Given the description of an element on the screen output the (x, y) to click on. 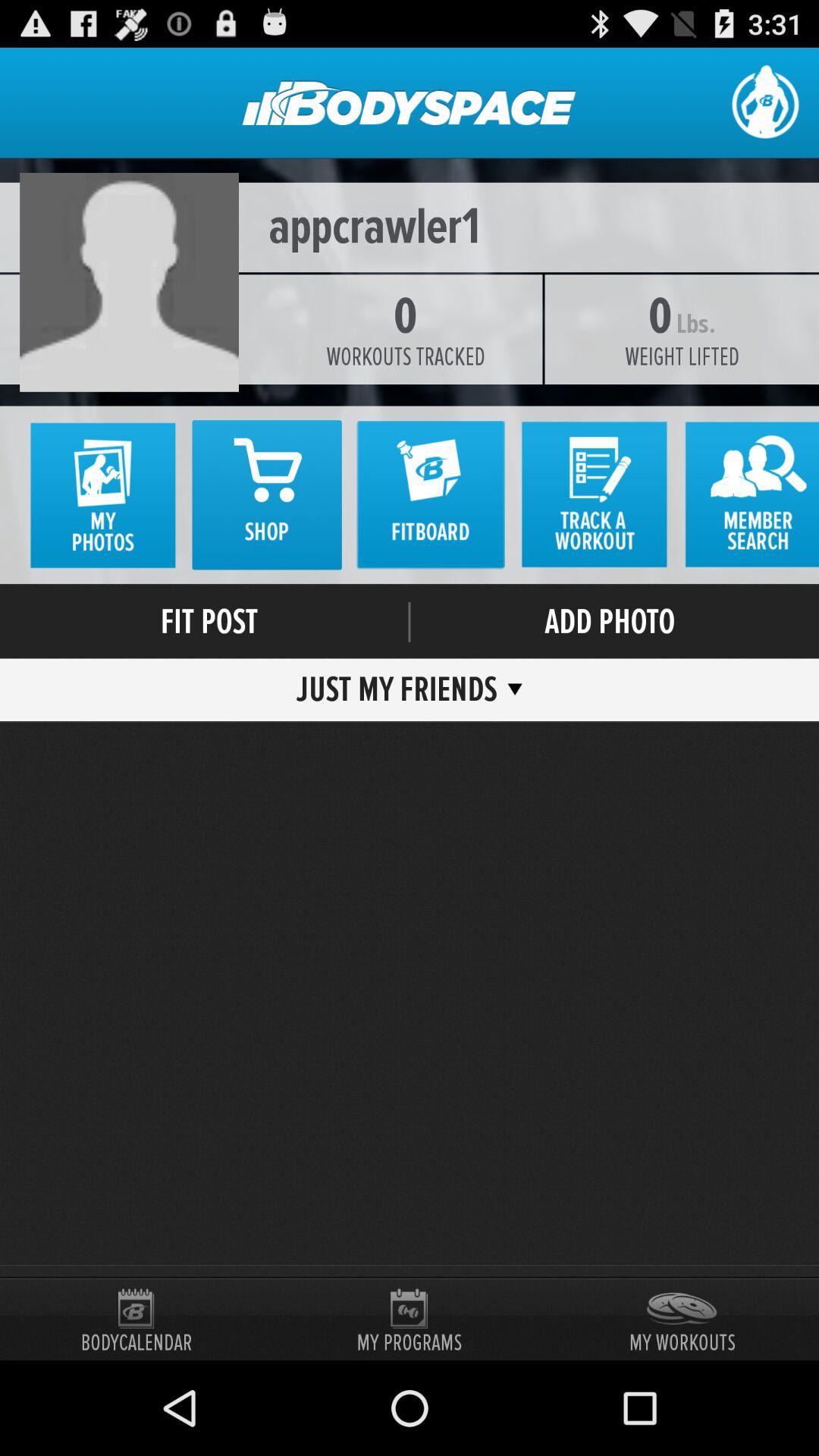
open icon below the appcrawler1 icon (405, 356)
